Given the description of an element on the screen output the (x, y) to click on. 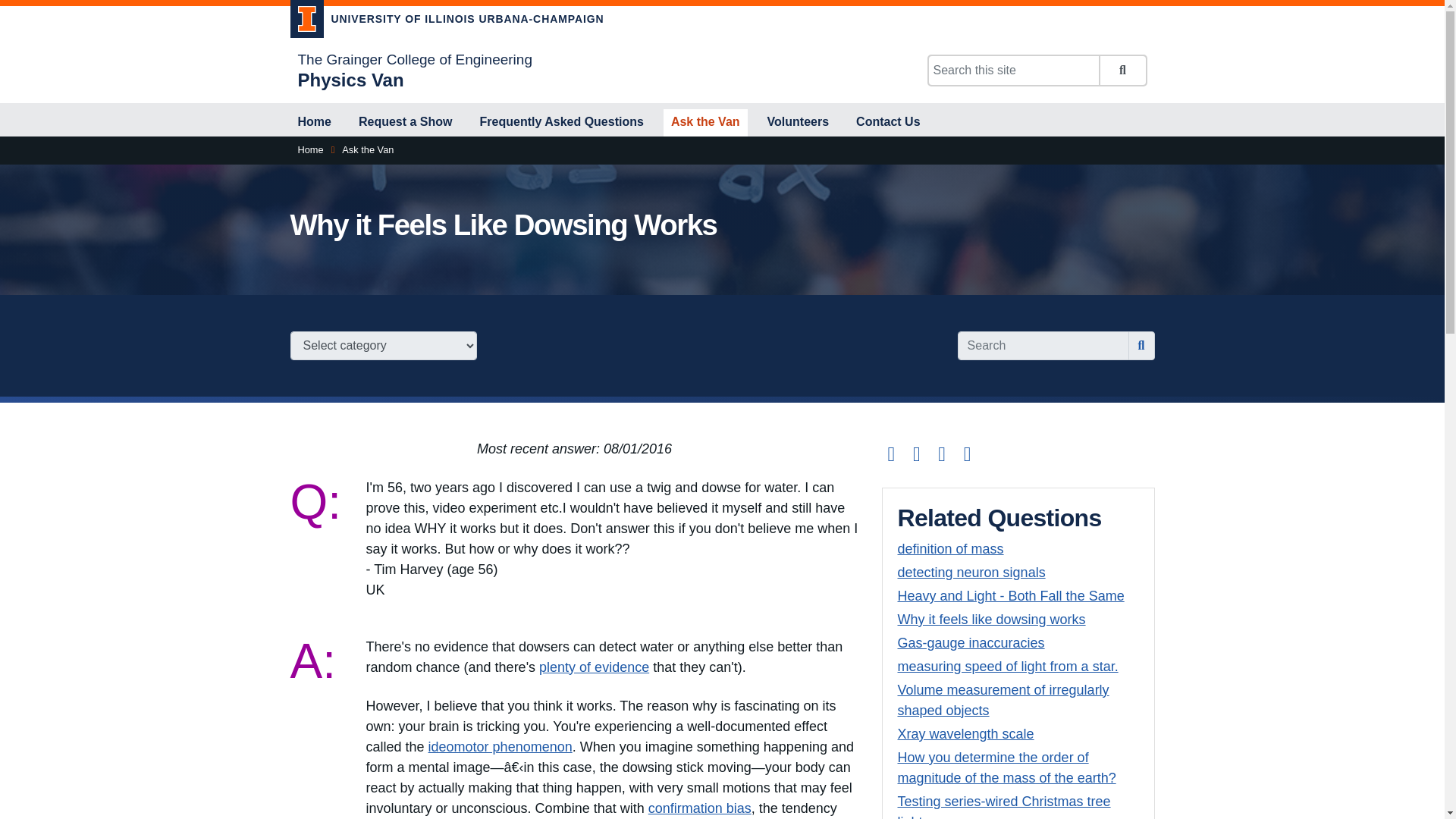
Contact Us (887, 122)
Home (310, 149)
Request a Show (405, 122)
Heavy and Light - Both Fall the Same (1011, 595)
Volunteers (798, 122)
UNIVERSITY OF ILLINOIS URBANA-CHAMPAIGN (446, 21)
definition of mass (951, 548)
Ask the Van (367, 149)
confirmation bias (699, 807)
Physics Van (350, 79)
plenty of evidence (593, 667)
The Grainger College of Engineering (414, 59)
Home (313, 122)
Search (1121, 70)
